Given the description of an element on the screen output the (x, y) to click on. 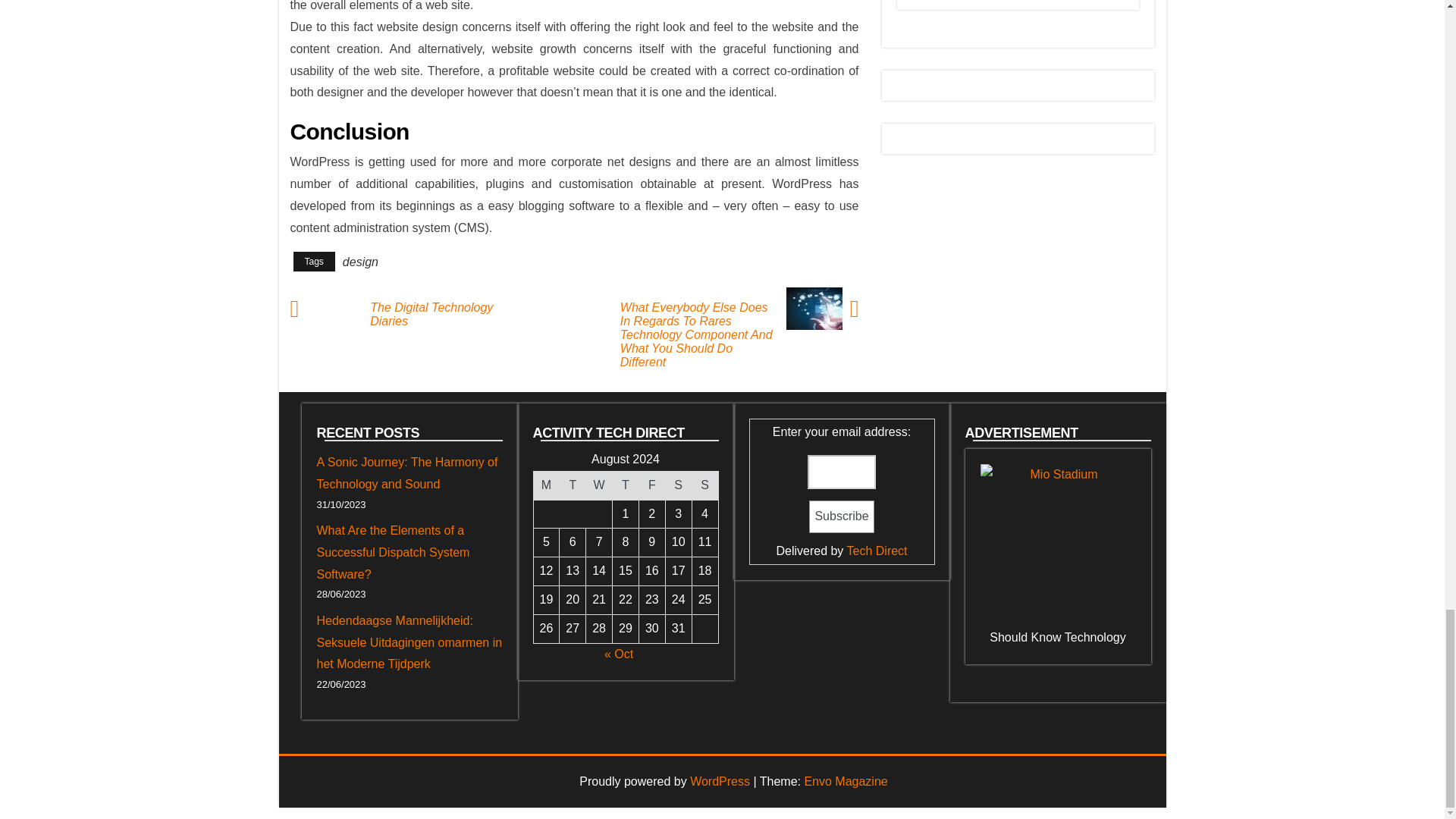
design (360, 261)
Subscribe (841, 516)
The Digital Technology Diaries (452, 314)
